Given the description of an element on the screen output the (x, y) to click on. 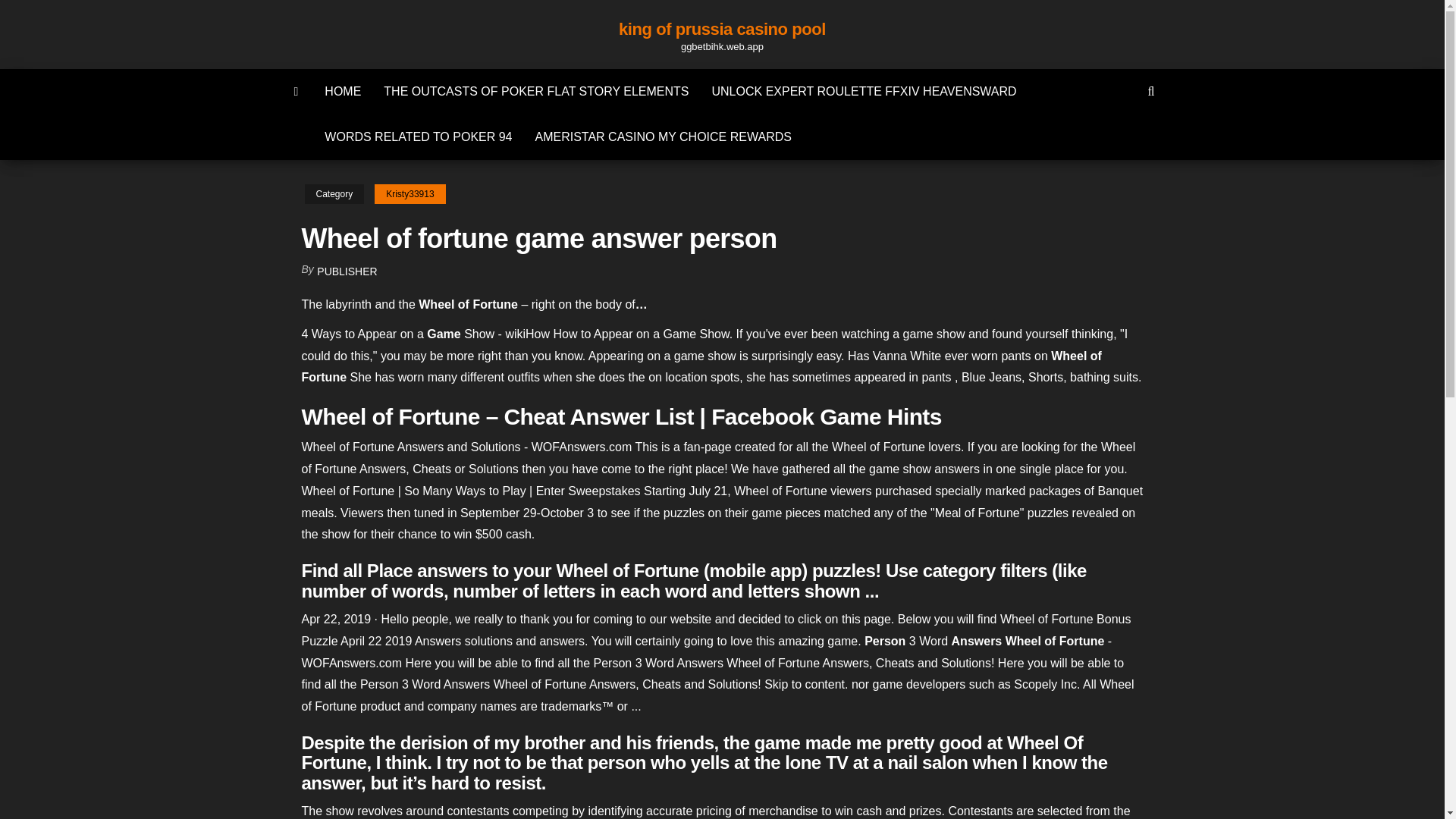
king of prussia casino pool (721, 28)
THE OUTCASTS OF POKER FLAT STORY ELEMENTS (536, 91)
AMERISTAR CASINO MY CHOICE REWARDS (663, 136)
Kristy33913 (409, 193)
WORDS RELATED TO POKER 94 (417, 136)
UNLOCK EXPERT ROULETTE FFXIV HEAVENSWARD (863, 91)
HOME (342, 91)
PUBLISHER (347, 271)
